Given the description of an element on the screen output the (x, y) to click on. 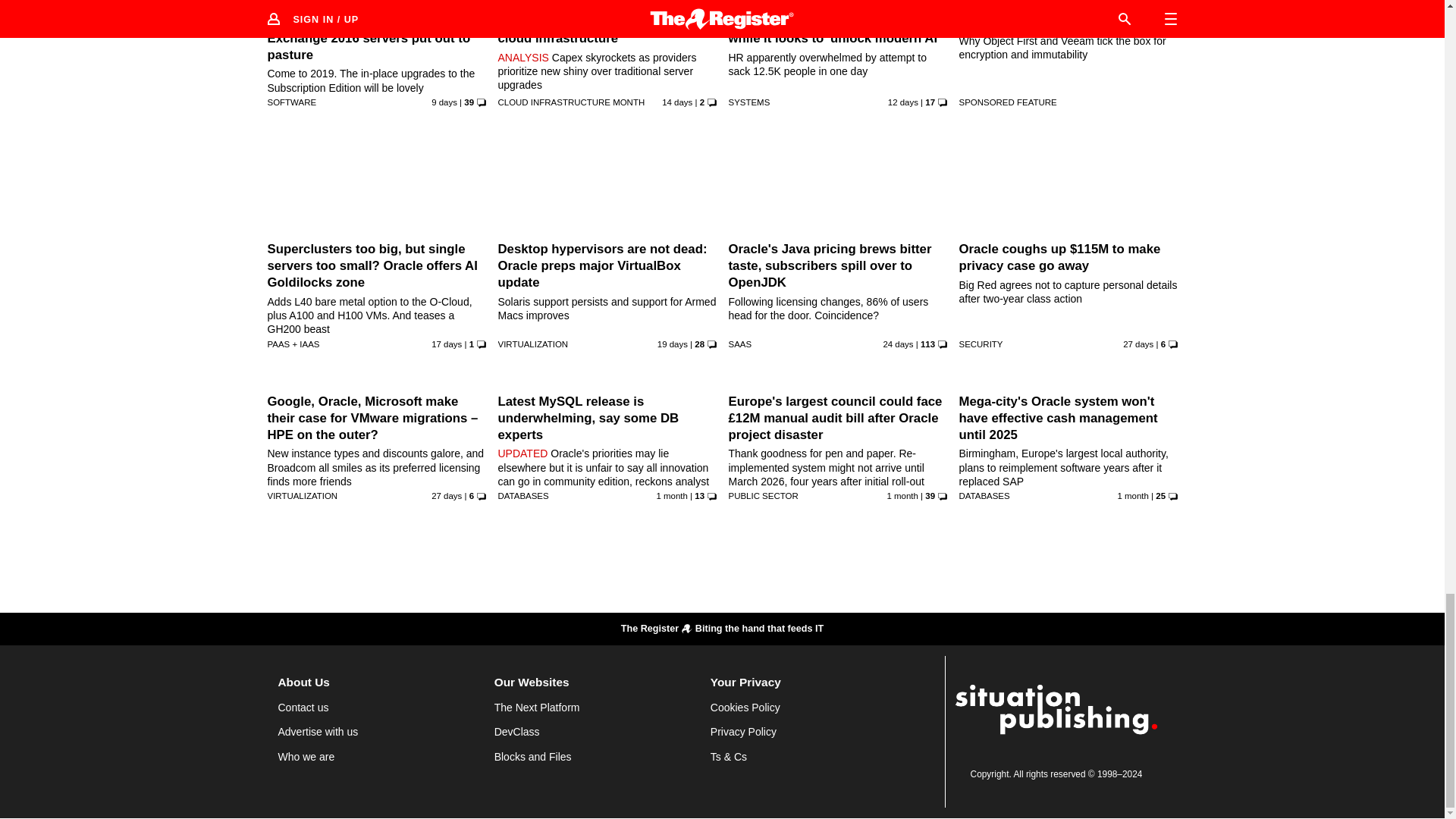
22 Jul 2024 13:45 (1137, 343)
1 Aug 2024 1:13 (445, 343)
6 Aug 2024 8:33 (903, 102)
22 Jul 2024 4:45 (445, 495)
16 Jul 2024 10:33 (671, 495)
9 Aug 2024 15:1 (443, 102)
4 Aug 2024 11:0 (677, 102)
30 Jul 2024 5:45 (672, 343)
25 Jul 2024 18:4 (897, 343)
